Given the description of an element on the screen output the (x, y) to click on. 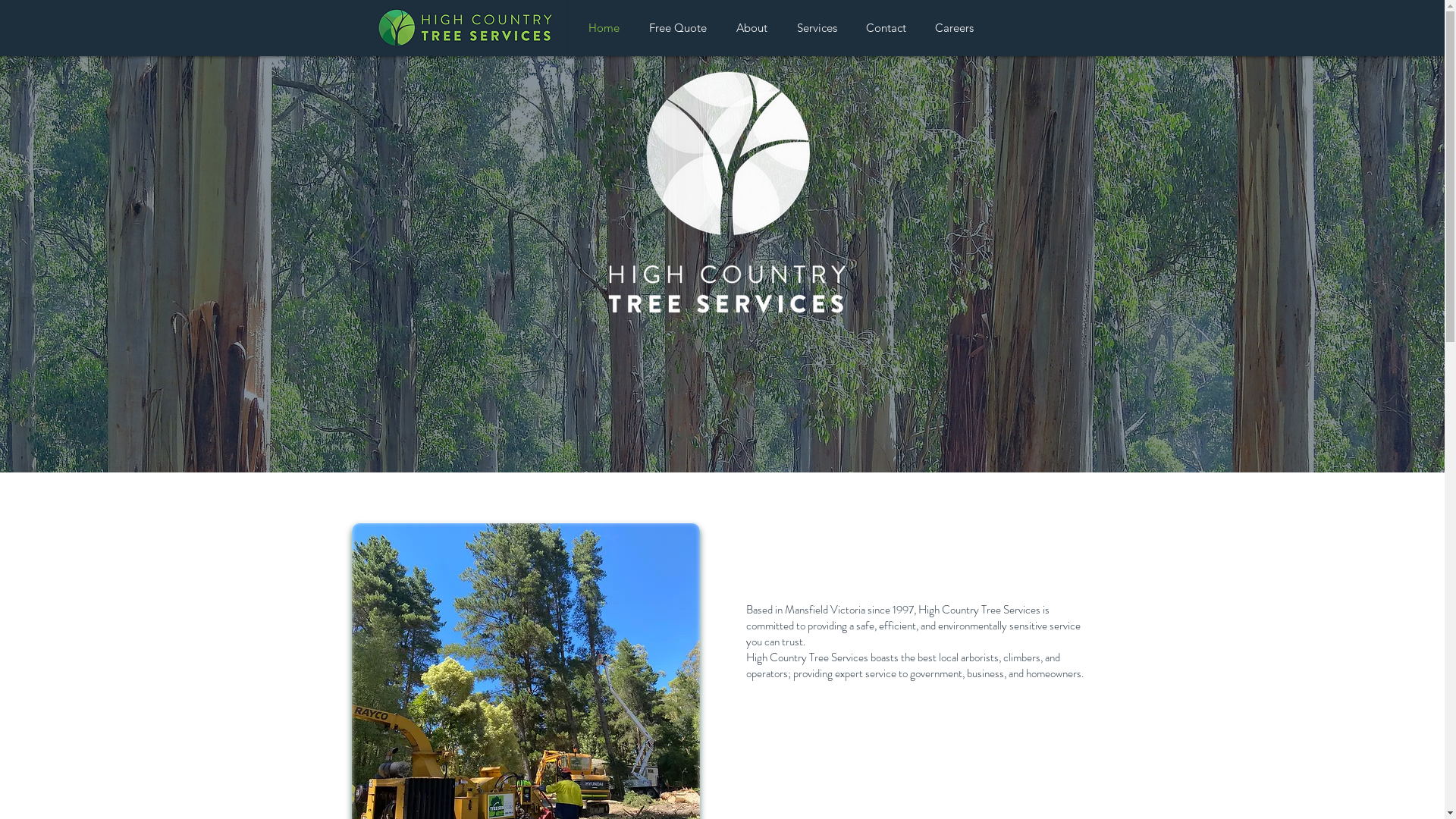
Contact Element type: text (884, 28)
Careers Element type: text (954, 28)
Free Quote Element type: text (677, 28)
About Element type: text (751, 28)
Services Element type: text (816, 28)
Home Element type: text (603, 28)
